Given the description of an element on the screen output the (x, y) to click on. 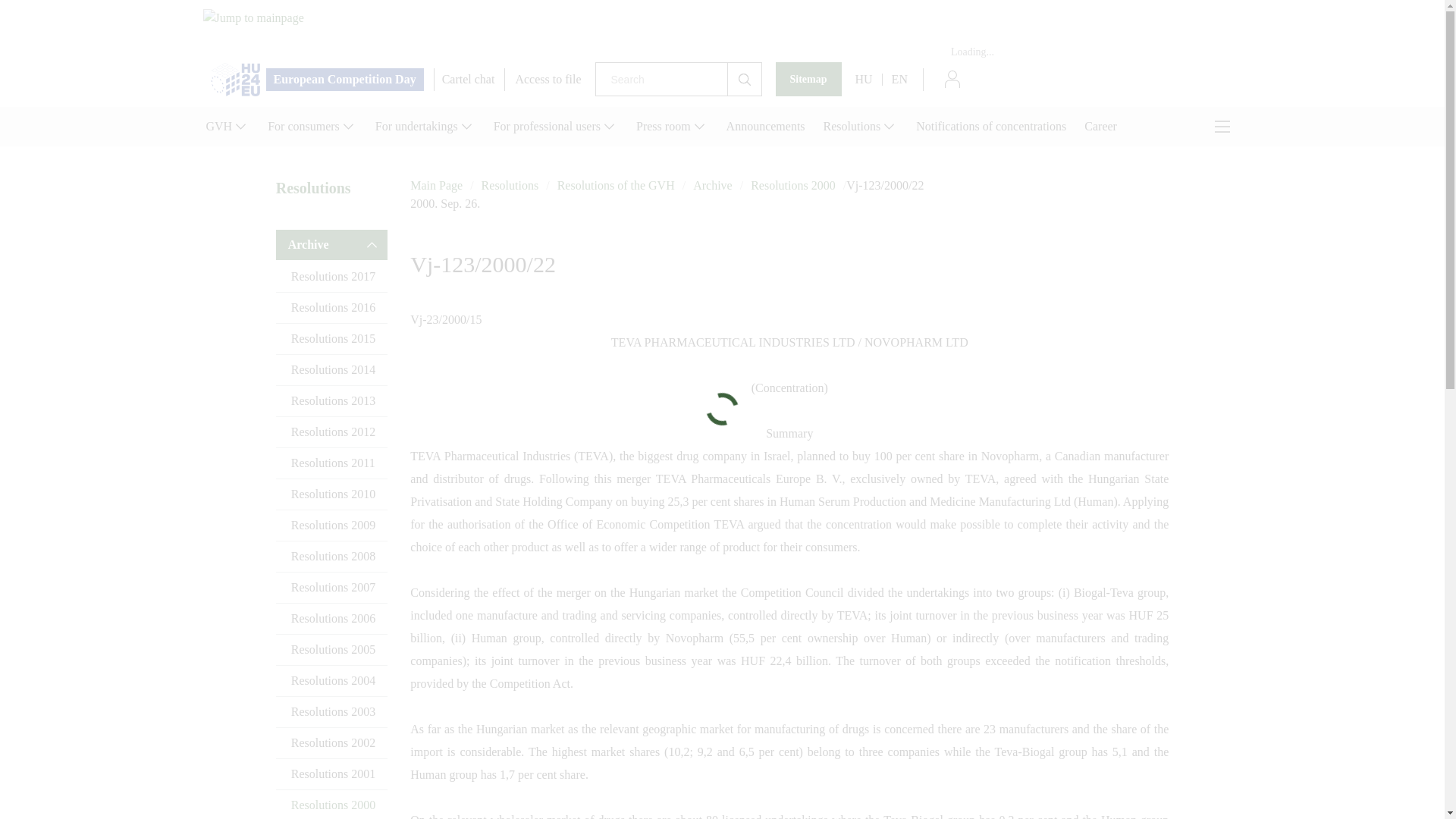
Jump to mainpage (279, 35)
GVH (226, 126)
Hungarian Competition Authority (722, 35)
Hungarian Competition Authority (722, 35)
European Competition Day (317, 79)
Access to file (547, 78)
Sitemap (807, 79)
Cartel chat (468, 78)
HU (864, 78)
